Given the description of an element on the screen output the (x, y) to click on. 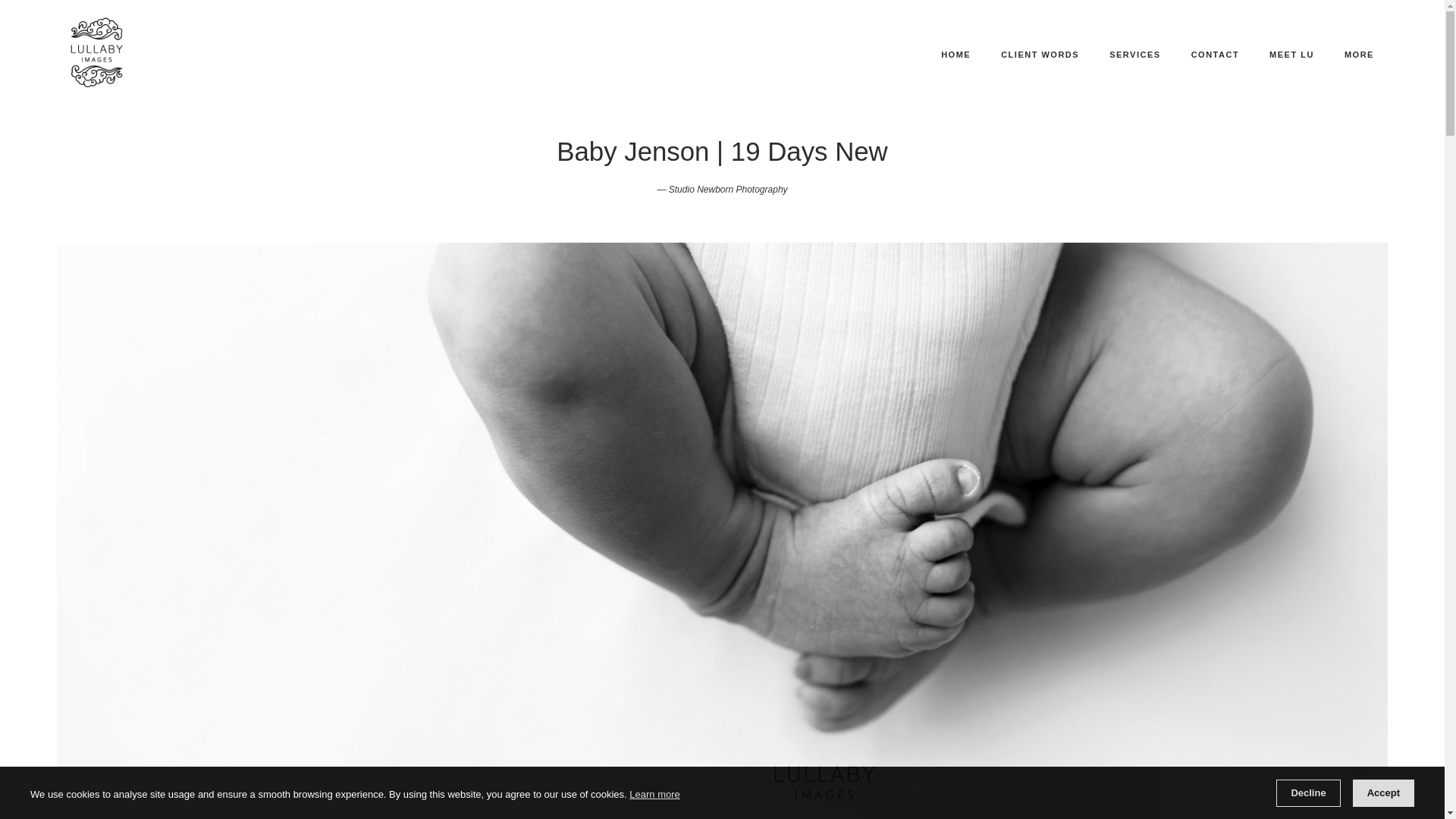
Decline (1307, 792)
CONTACT (1214, 54)
MORE (1365, 54)
SERVICES (1134, 54)
Learn more (653, 793)
MEET LU (1292, 54)
HOME (955, 54)
CLIENT WORDS (1039, 54)
Accept (1382, 792)
Studio Newborn Photography (727, 189)
